Given the description of an element on the screen output the (x, y) to click on. 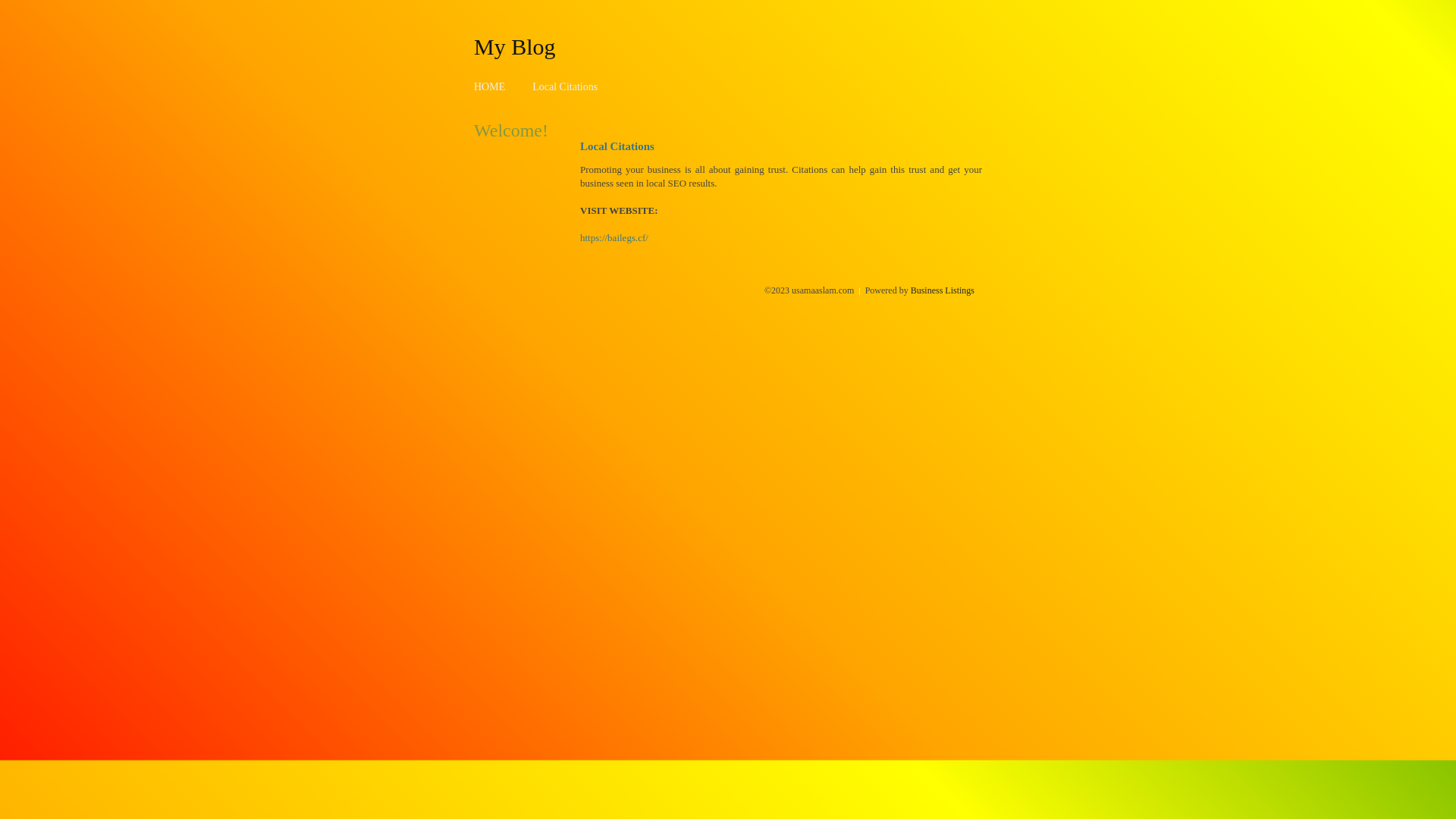
HOME Element type: text (489, 86)
My Blog Element type: text (514, 46)
Local Citations Element type: text (564, 86)
Business Listings Element type: text (942, 290)
https://bailegs.cf/ Element type: text (614, 237)
